Given the description of an element on the screen output the (x, y) to click on. 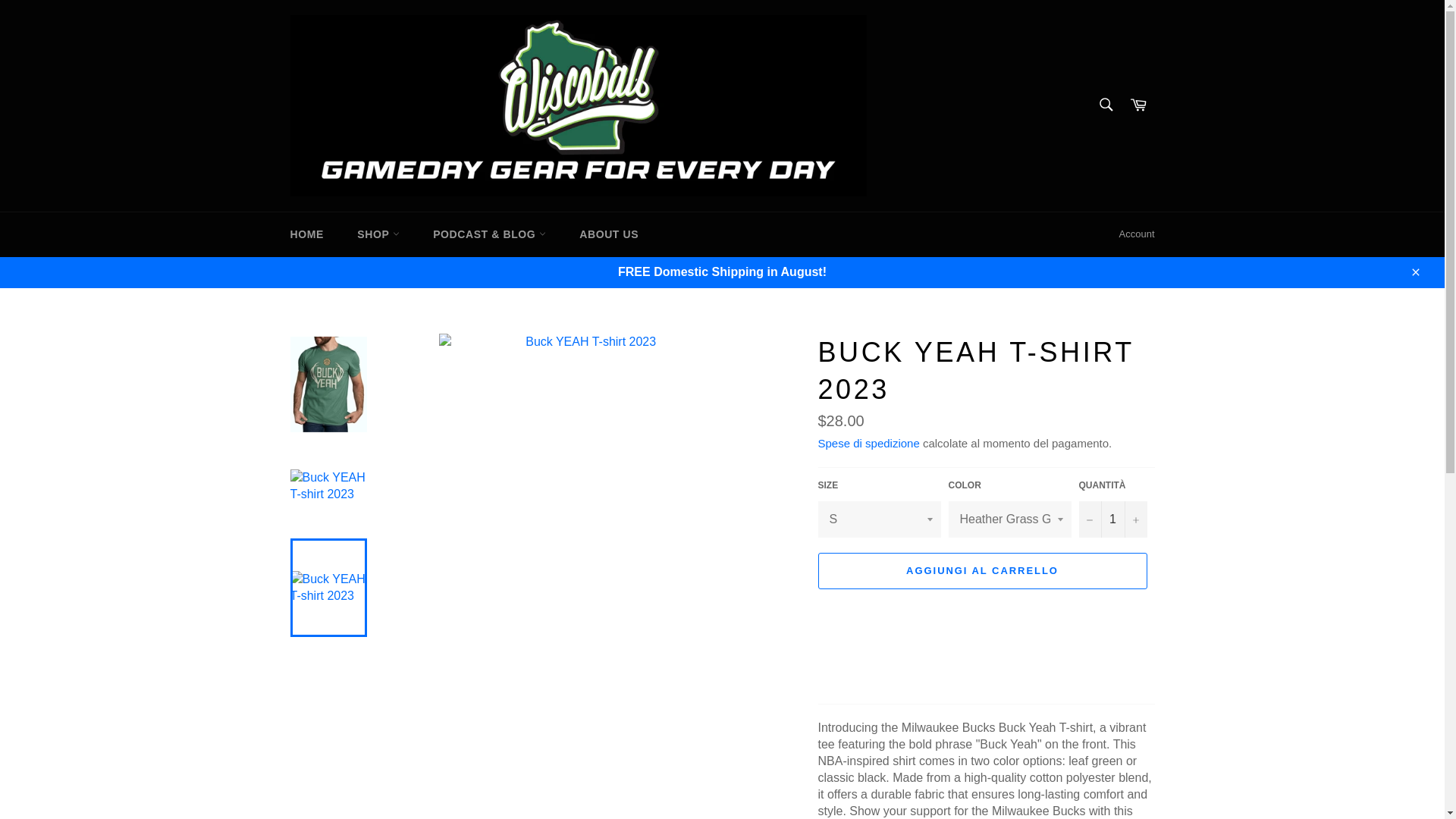
SHOP (377, 234)
Cerca (1104, 104)
HOME (306, 234)
Carrello (1138, 105)
1 (1112, 519)
